Given the description of an element on the screen output the (x, y) to click on. 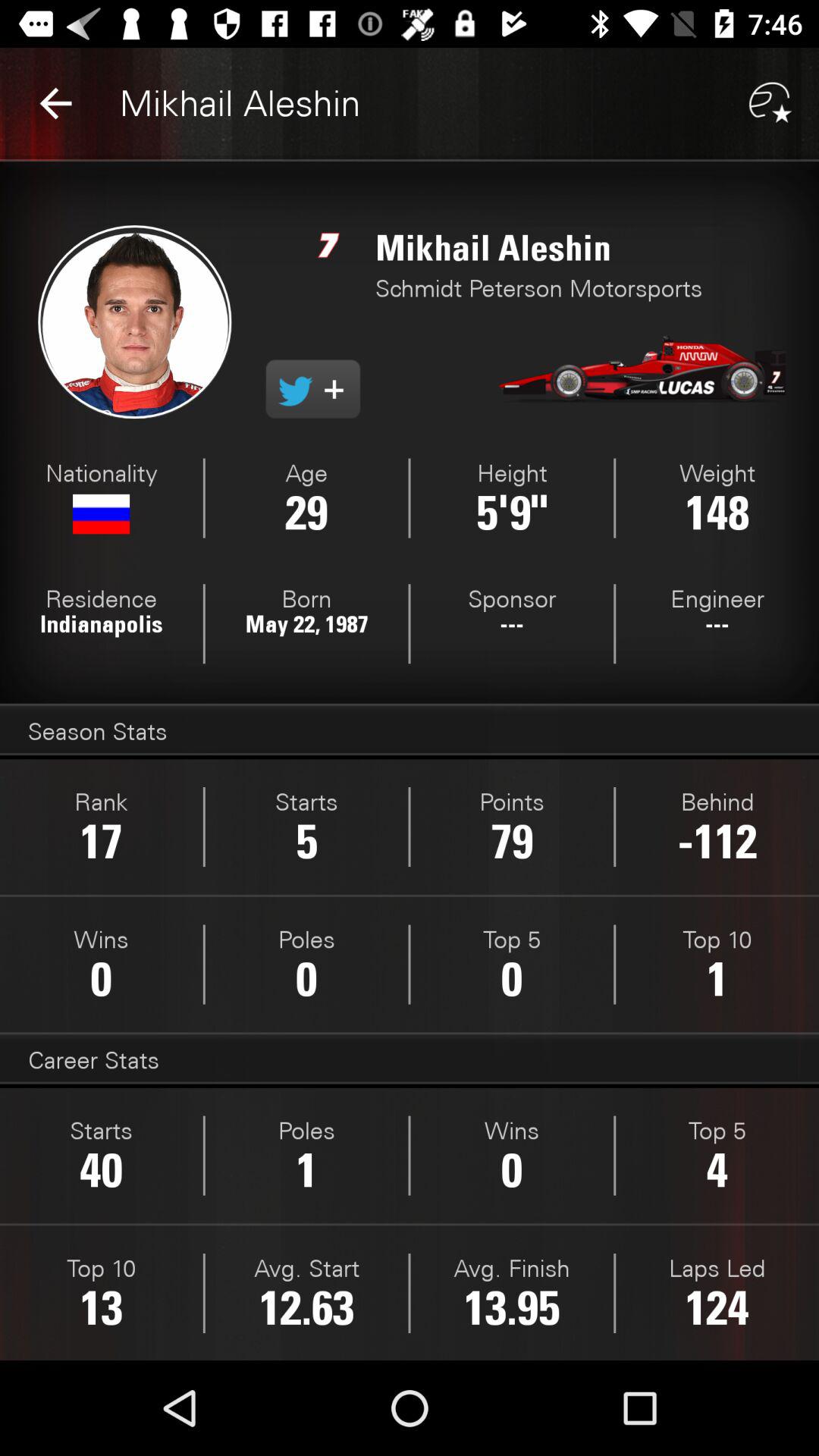
go to twitter (312, 388)
